Given the description of an element on the screen output the (x, y) to click on. 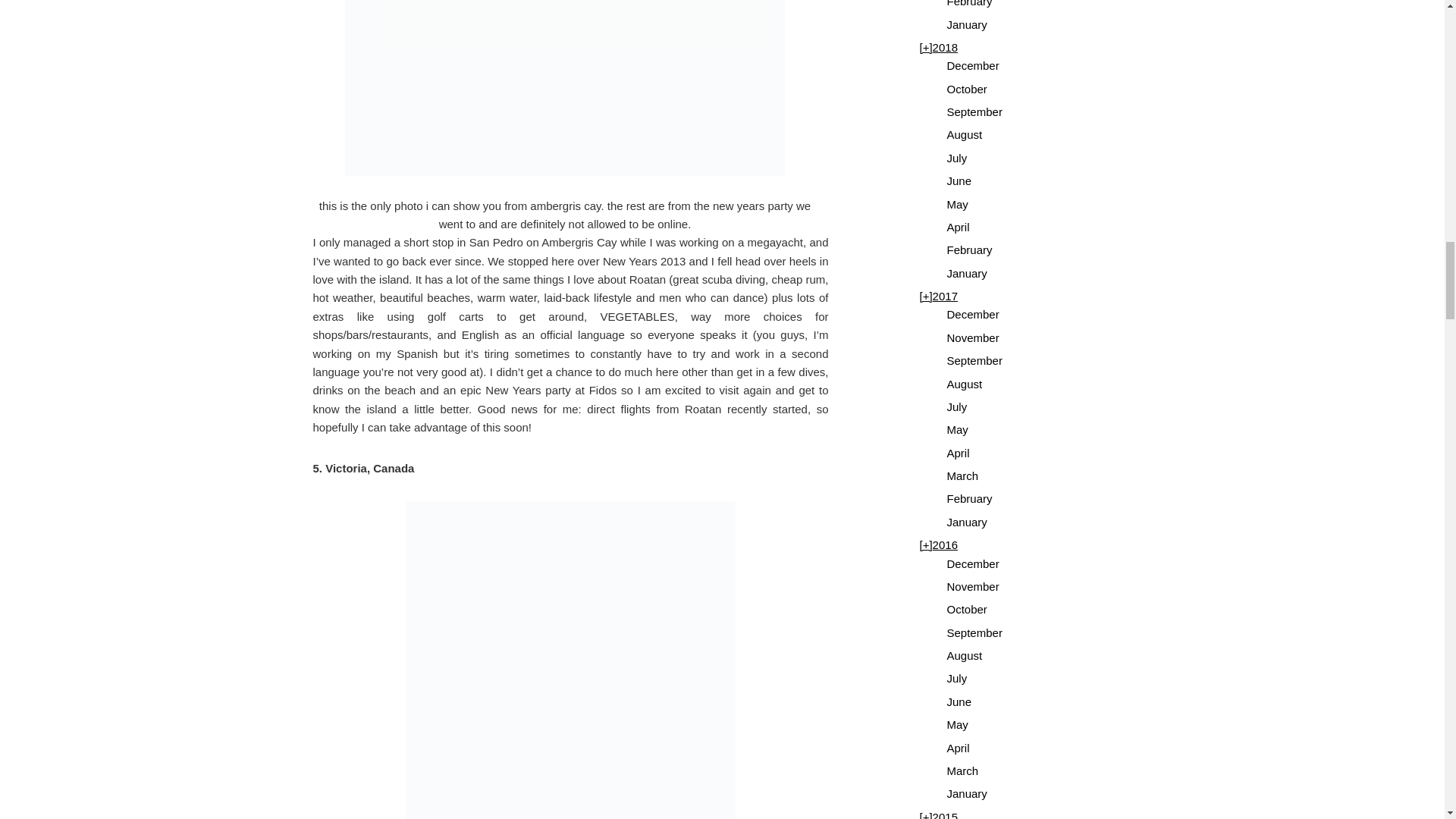
February (968, 3)
2018 (945, 47)
January (966, 24)
2018 (924, 47)
